Given the description of an element on the screen output the (x, y) to click on. 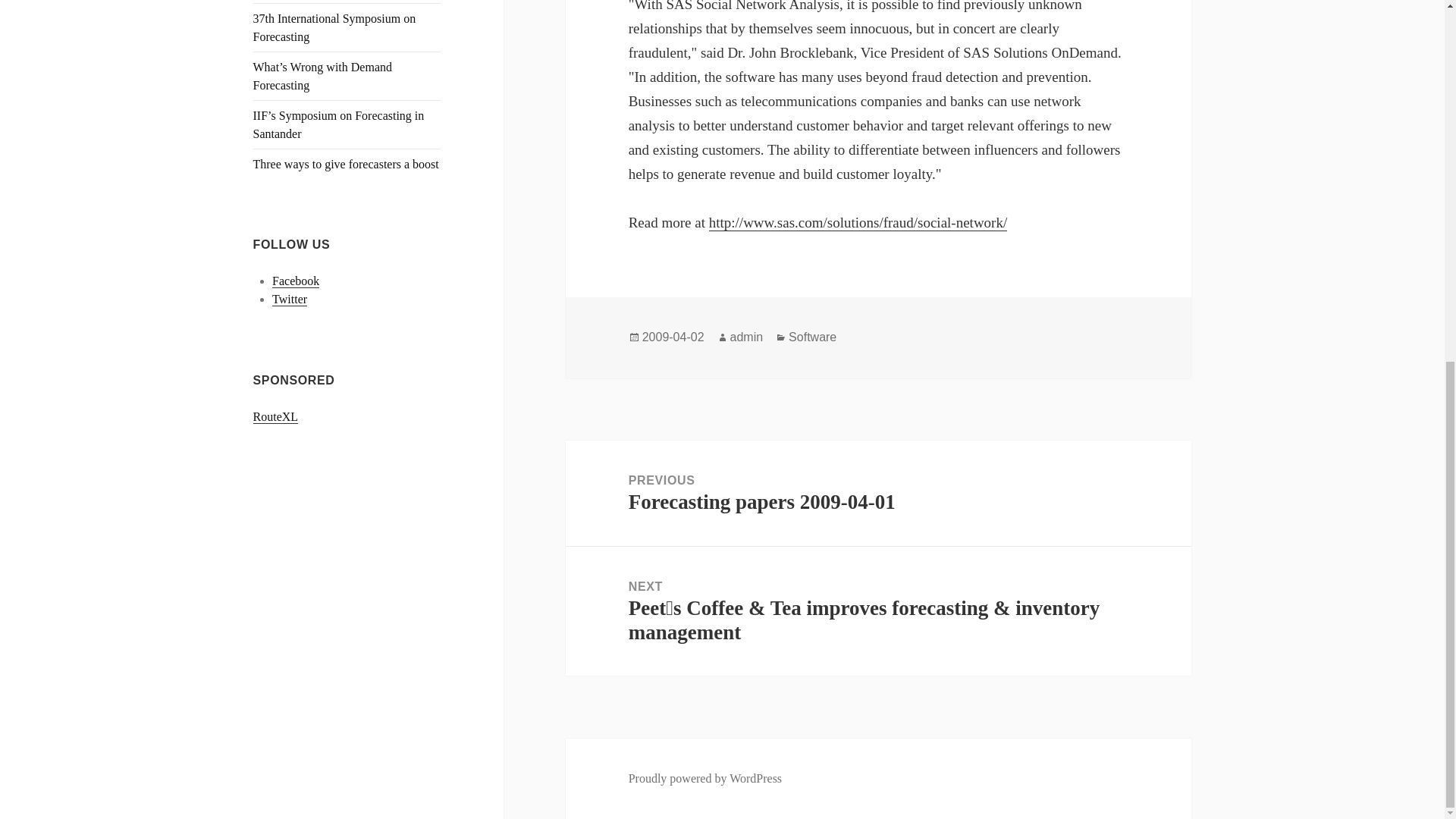
Best route with stops (275, 417)
Proudly powered by WordPress (704, 778)
Twitter (289, 299)
RouteXL (275, 417)
2009-04-02 (878, 493)
admin (673, 336)
Software (746, 336)
Facebook (812, 336)
Three ways to give forecasters a boost (295, 281)
37th International Symposium on Forecasting (346, 164)
